Given the description of an element on the screen output the (x, y) to click on. 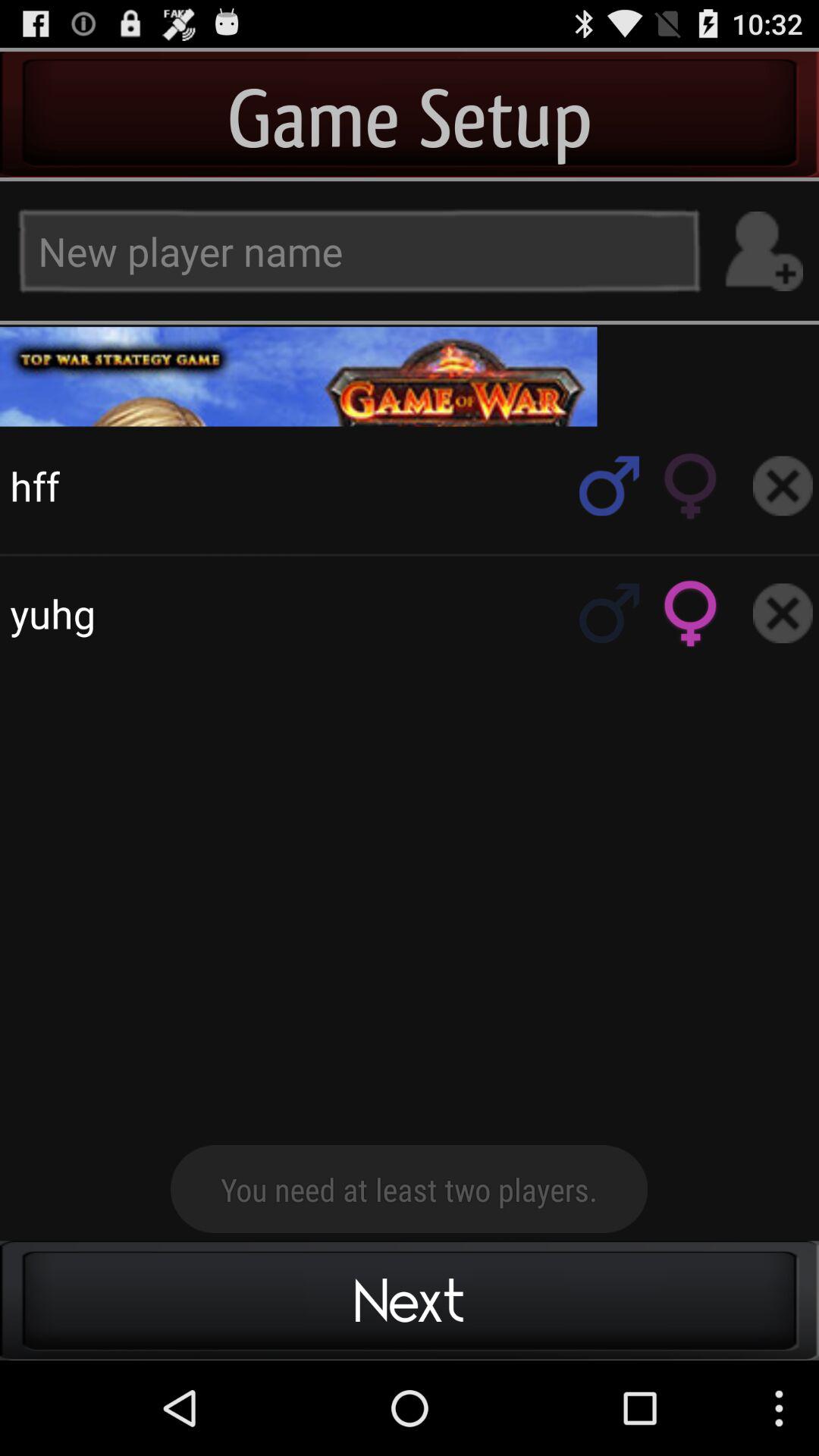
name (763, 251)
